Given the description of an element on the screen output the (x, y) to click on. 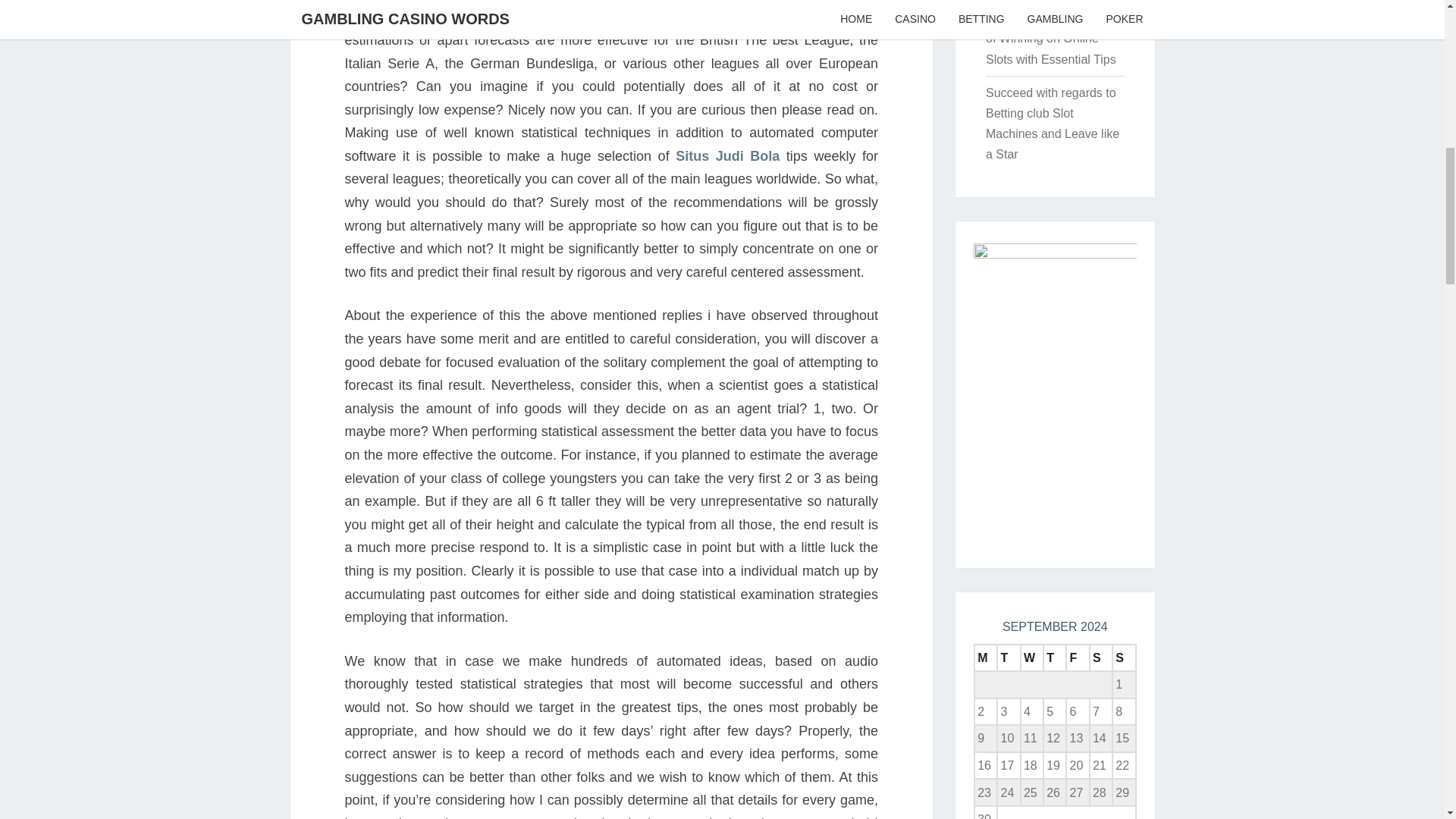
Situs Judi Bola (726, 155)
